Given the description of an element on the screen output the (x, y) to click on. 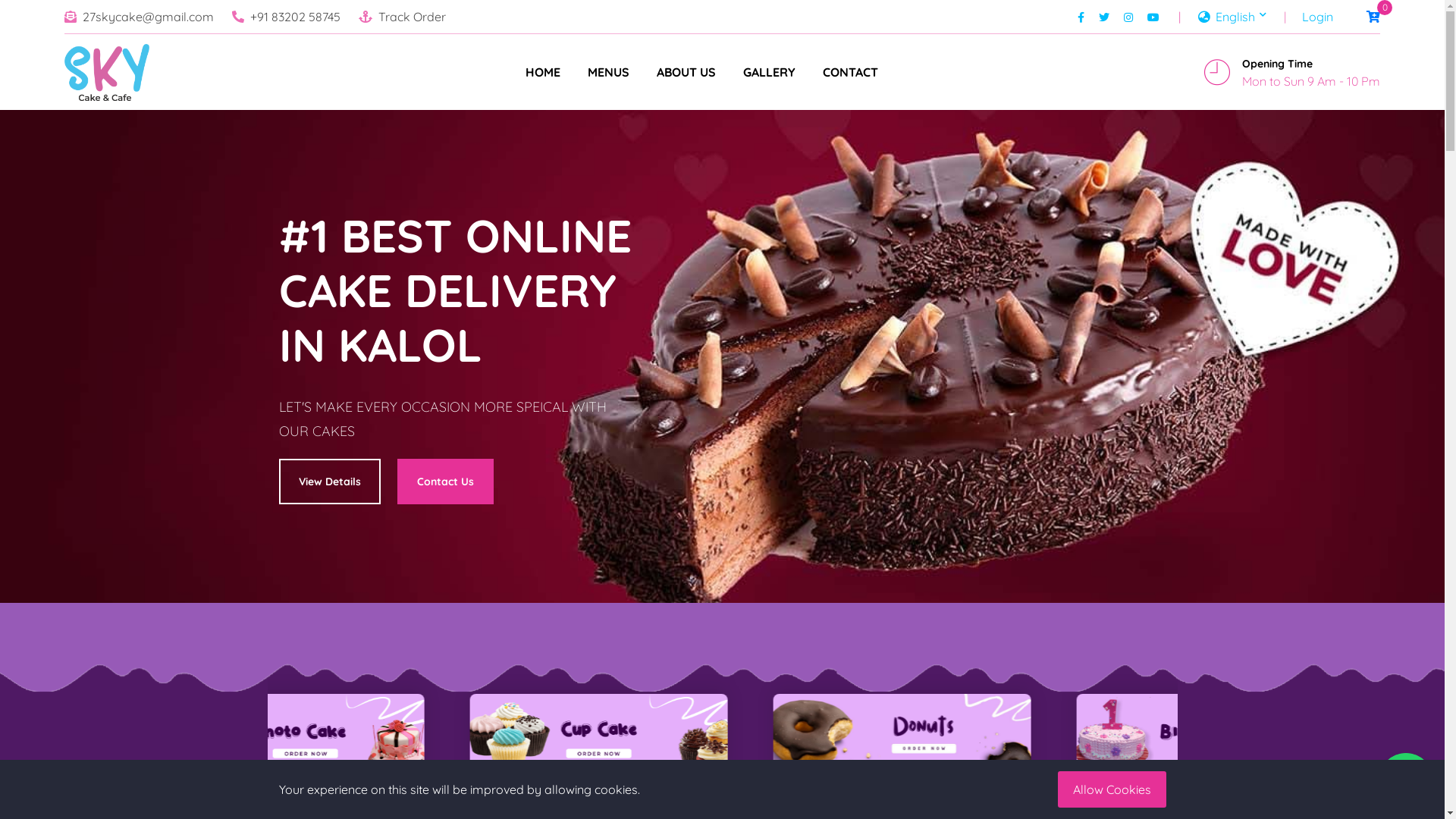
Track Order Element type: text (411, 16)
GALLERY Element type: text (769, 71)
CONTACT Element type: text (850, 71)
View Details Element type: text (329, 481)
Contact Us Element type: text (445, 481)
English Element type: text (1232, 16)
Login Element type: text (1317, 16)
MENUS Element type: text (608, 71)
ABOUT US Element type: text (685, 71)
Allow Cookies Element type: text (1111, 789)
HOME Element type: text (542, 71)
+91 83202 58745 Element type: text (295, 16)
cup cake Element type: hover (721, 736)
photo cake Element type: hover (418, 736)
Dounts Element type: hover (1025, 737)
27skycake@gmail.com Element type: text (147, 16)
0 Element type: text (1358, 16)
